Given the description of an element on the screen output the (x, y) to click on. 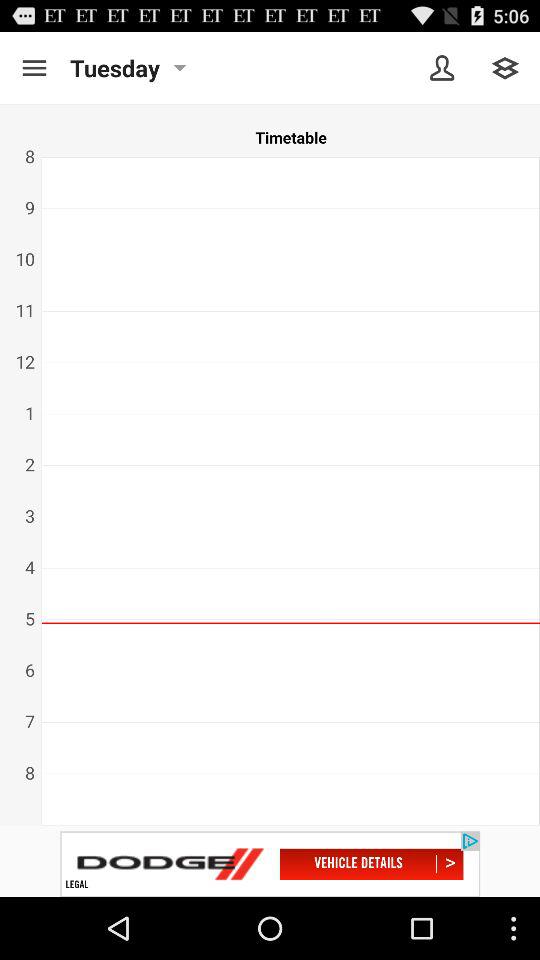
profile (442, 68)
